Given the description of an element on the screen output the (x, y) to click on. 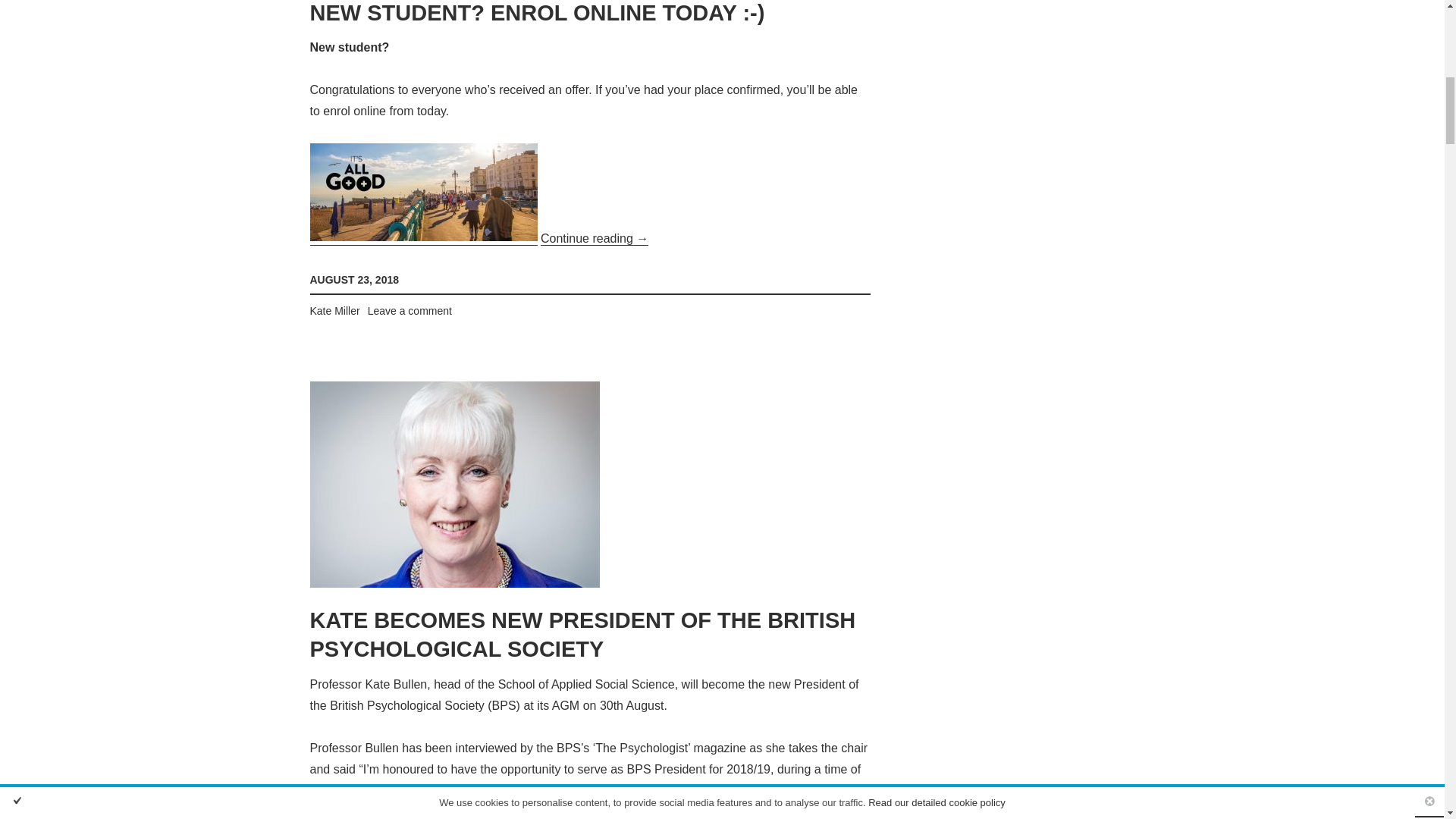
Kate Miller (333, 310)
Leave a comment (409, 310)
AUGUST 23, 2018 (353, 279)
